Given the description of an element on the screen output the (x, y) to click on. 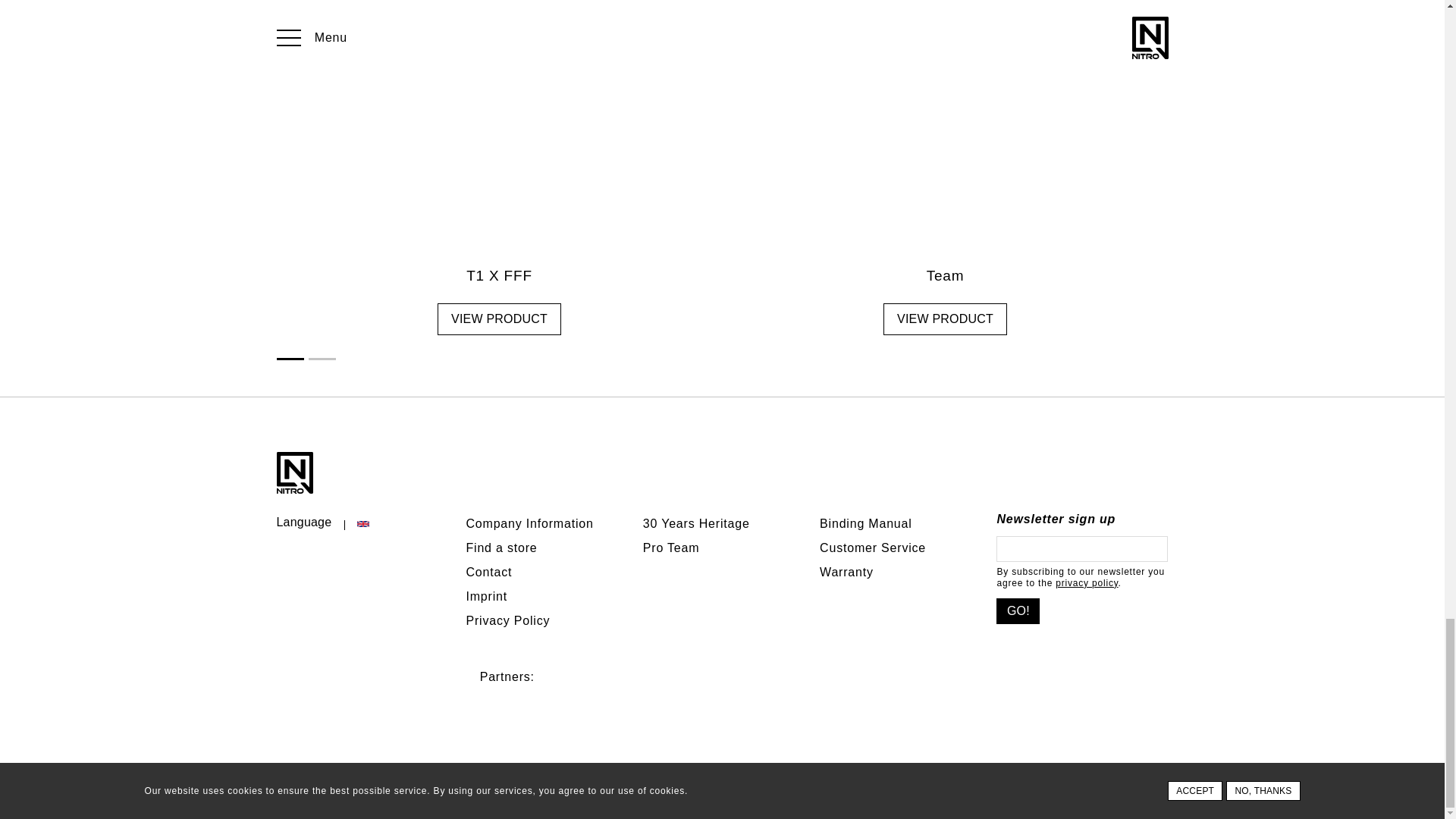
Go! (1017, 611)
English (362, 523)
